Given the description of an element on the screen output the (x, y) to click on. 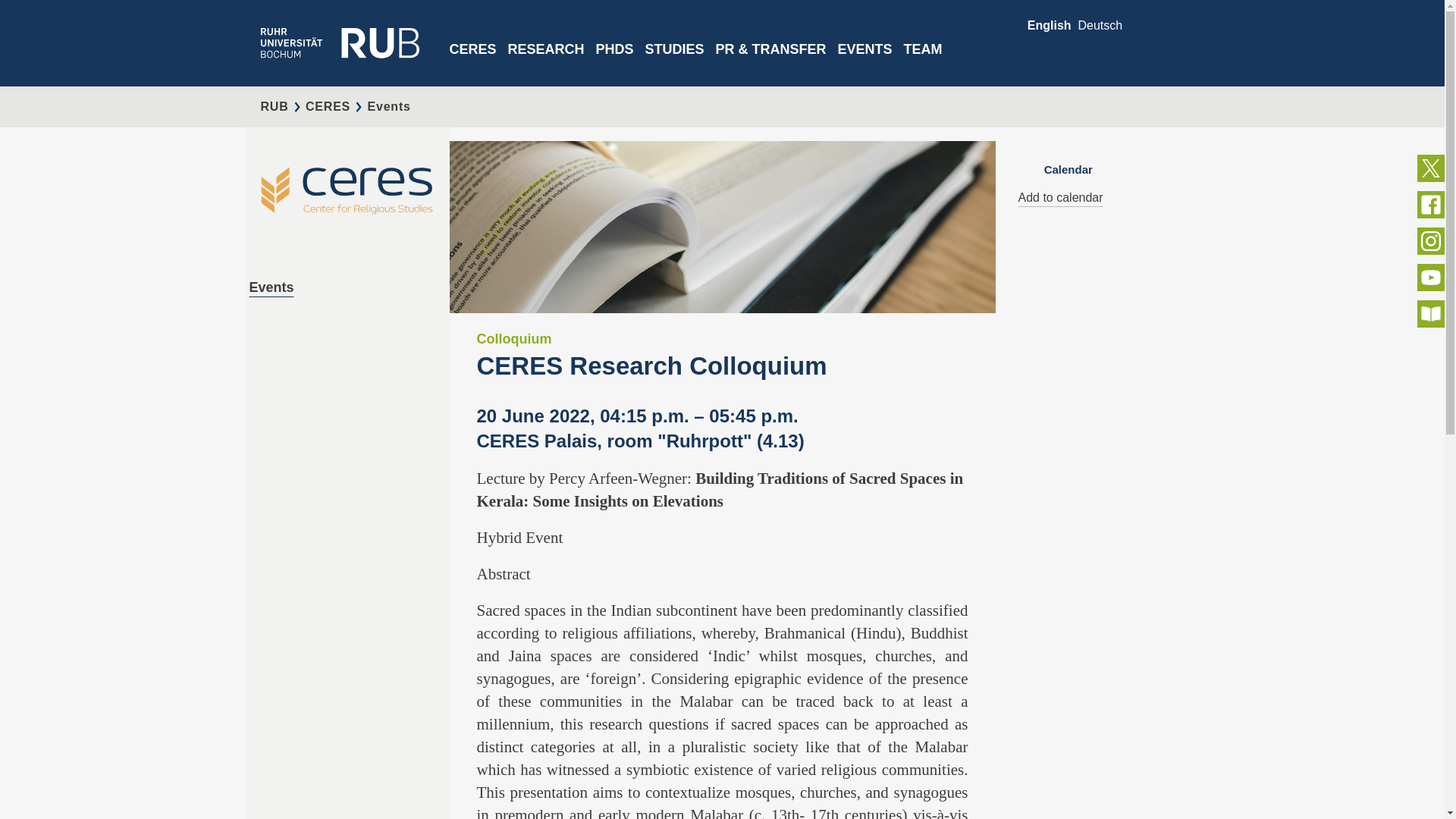
STUDIES (674, 62)
RESEARCH (546, 62)
Change to language: Deutsch (1099, 24)
EVENTS (865, 62)
CERES (472, 62)
